Given the description of an element on the screen output the (x, y) to click on. 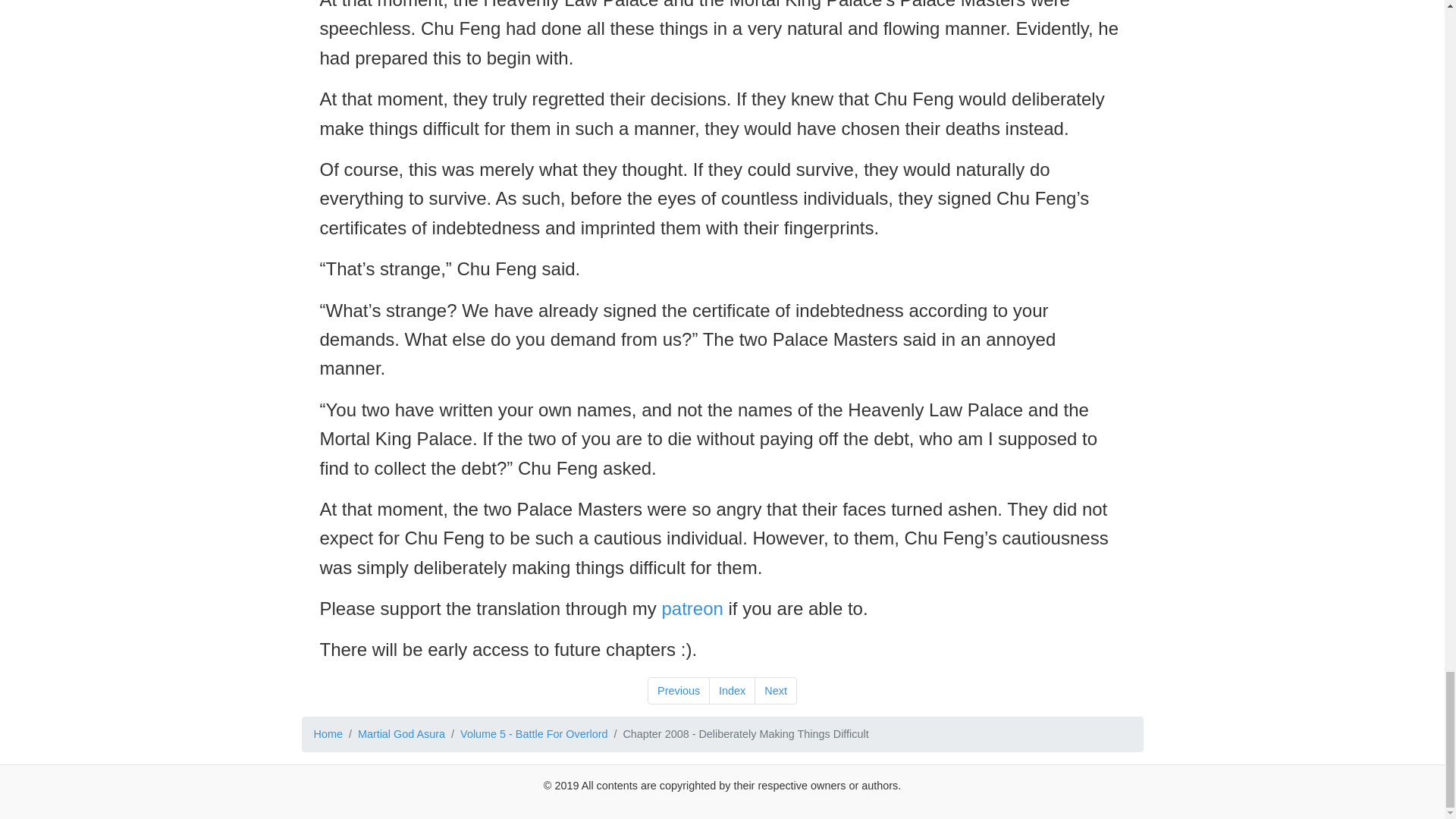
Previous (678, 690)
Index (732, 690)
Volume 5 - Battle For Overlord (533, 734)
Next (775, 690)
Martial God Asura (401, 734)
Home (328, 734)
patreon (691, 608)
